Given the description of an element on the screen output the (x, y) to click on. 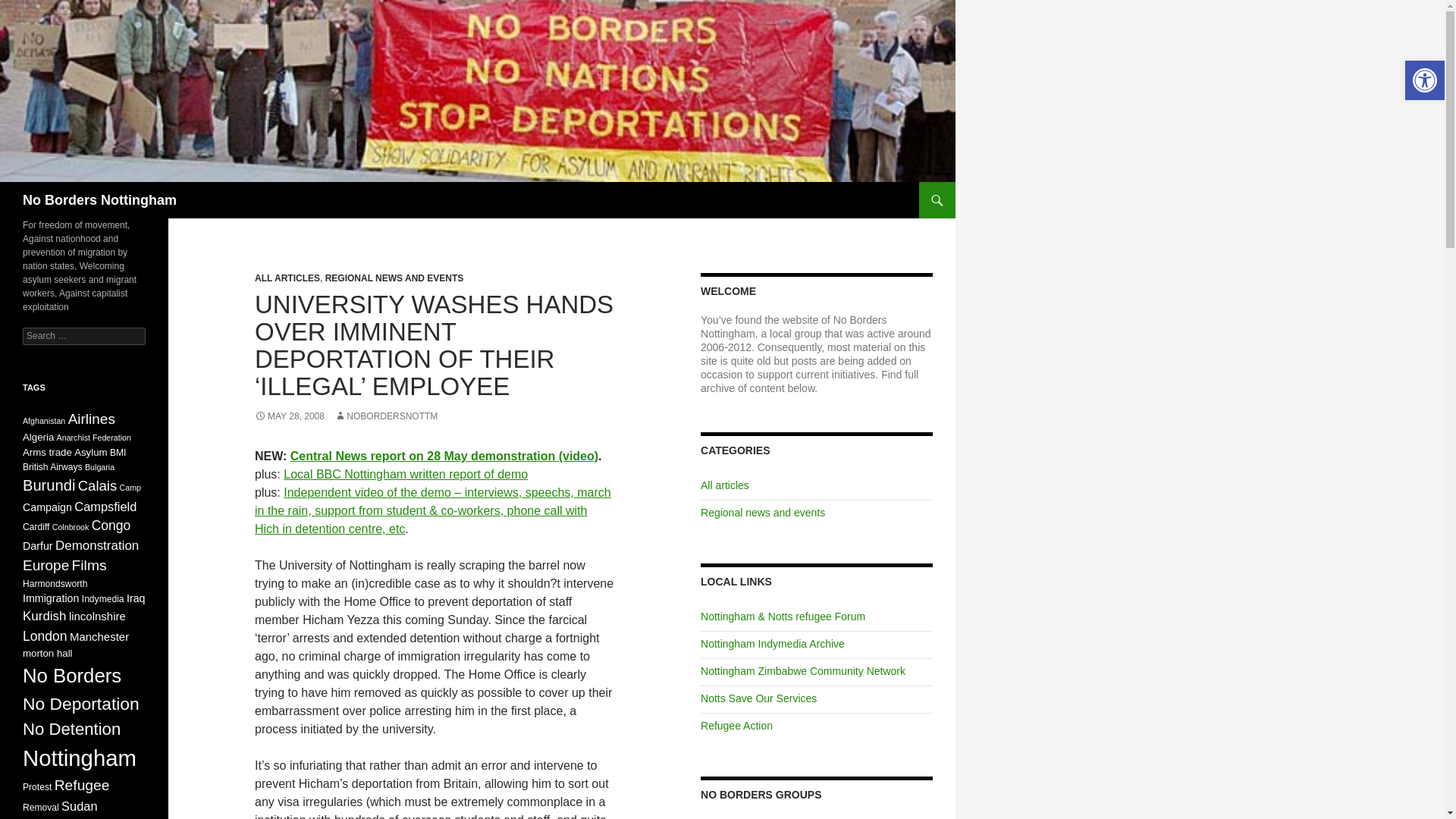
Nottingham Indymedia Archive (772, 644)
ALL ARTICLES (287, 277)
All articles (724, 485)
Notts Save Our Services (758, 698)
NOBORDERSNOTTM (386, 416)
REGIONAL NEWS AND EVENTS (394, 277)
Accessibility Tools (1424, 79)
Refugee Action (736, 725)
